Given the description of an element on the screen output the (x, y) to click on. 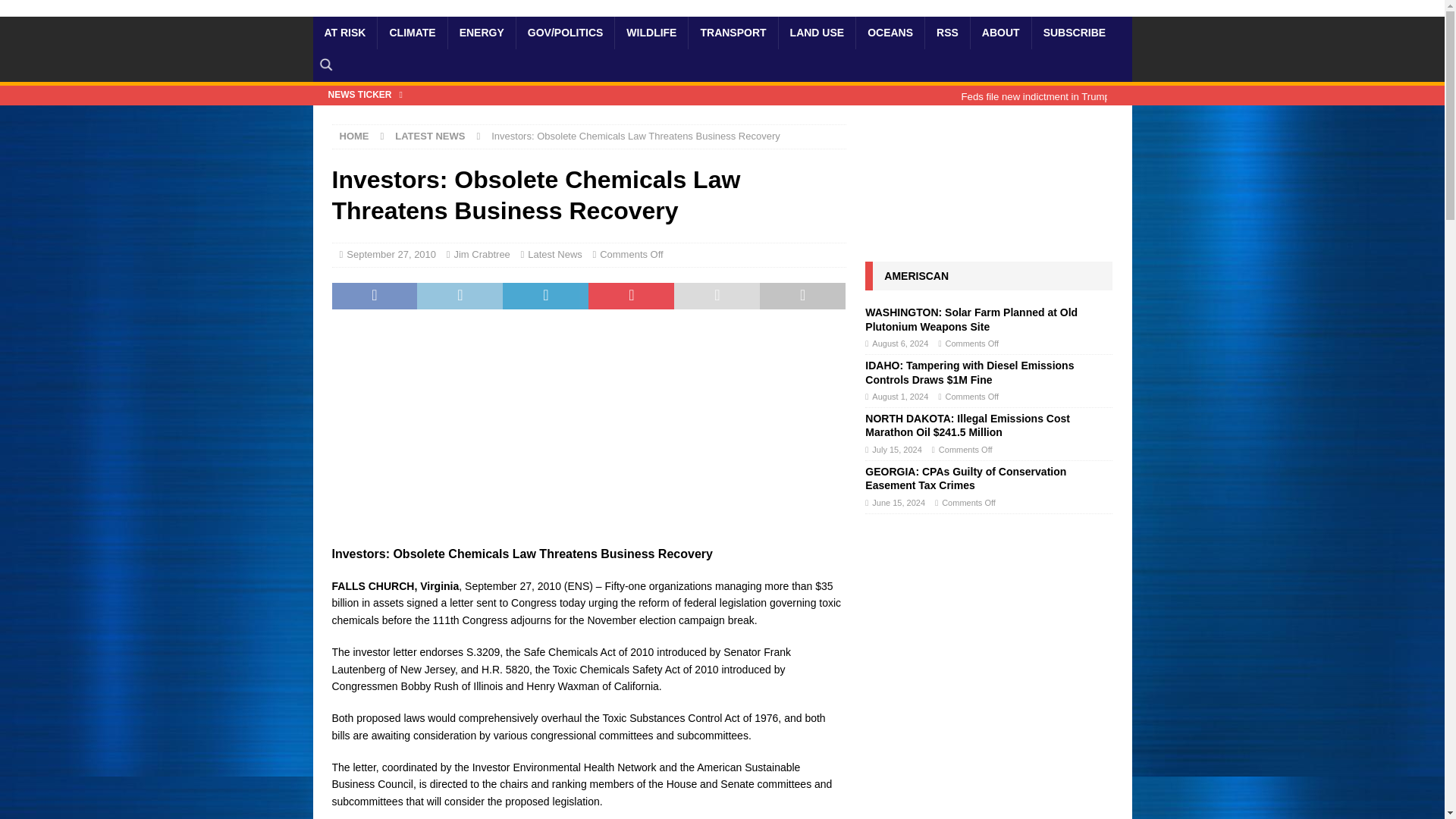
WILDLIFE (650, 32)
ABOUT (999, 32)
HOME (354, 135)
LAND USE (816, 32)
TRANSPORT (732, 32)
CLIMATE (411, 32)
LATEST NEWS (429, 135)
ENERGY (480, 32)
WASHINGTON: Solar Farm Planned at Old Plutonium Weapons Site (970, 319)
RSS (946, 32)
